Given the description of an element on the screen output the (x, y) to click on. 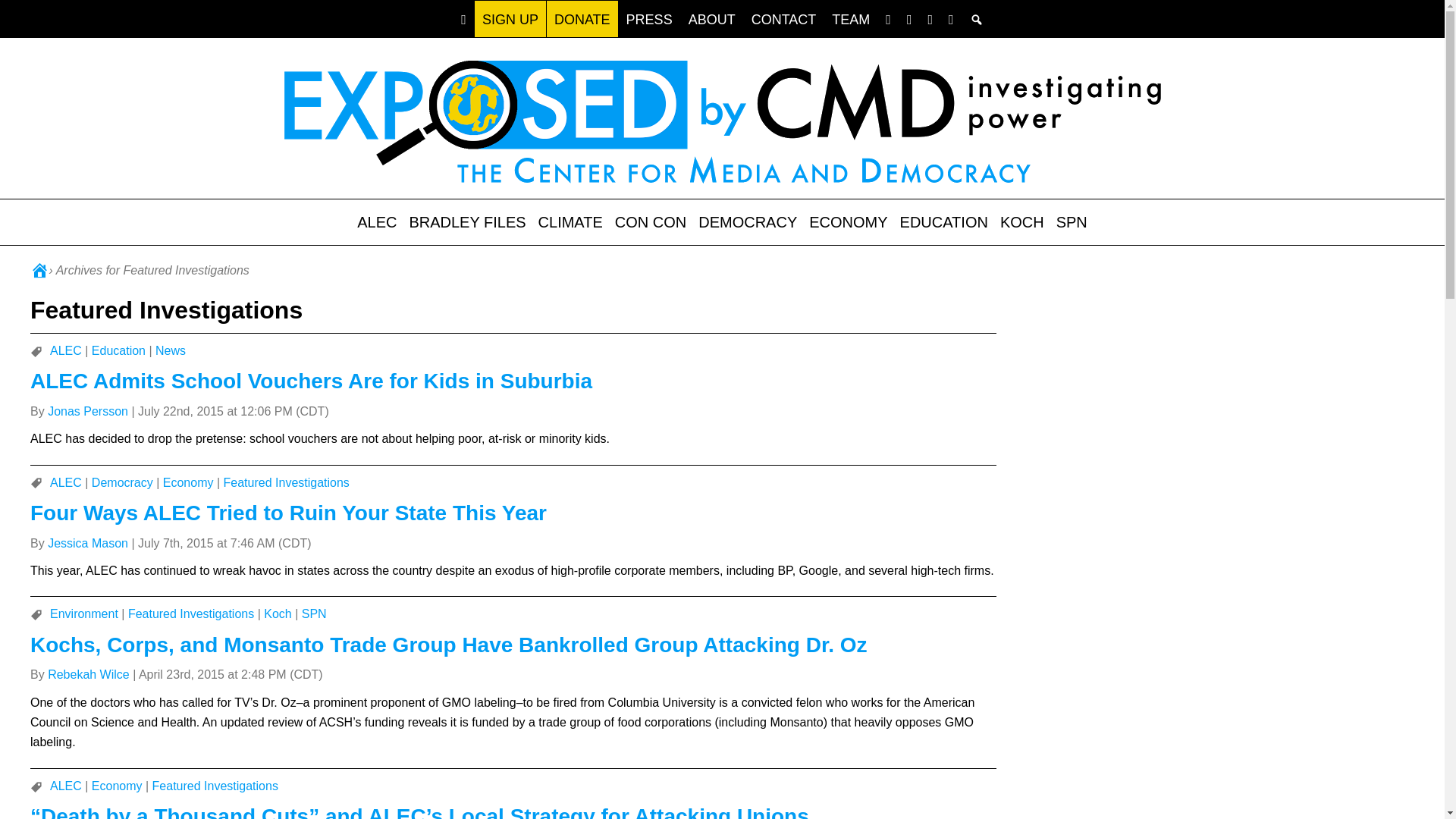
Featured Investigations (286, 481)
CONTACT (784, 18)
Posts by Jessica Mason (88, 543)
Democracy (121, 481)
ALEC (65, 350)
PRESS (648, 18)
Environment (83, 613)
Posts by Rebekah Wilce (88, 674)
Jonas Persson (88, 410)
ALEC (376, 221)
